Given the description of an element on the screen output the (x, y) to click on. 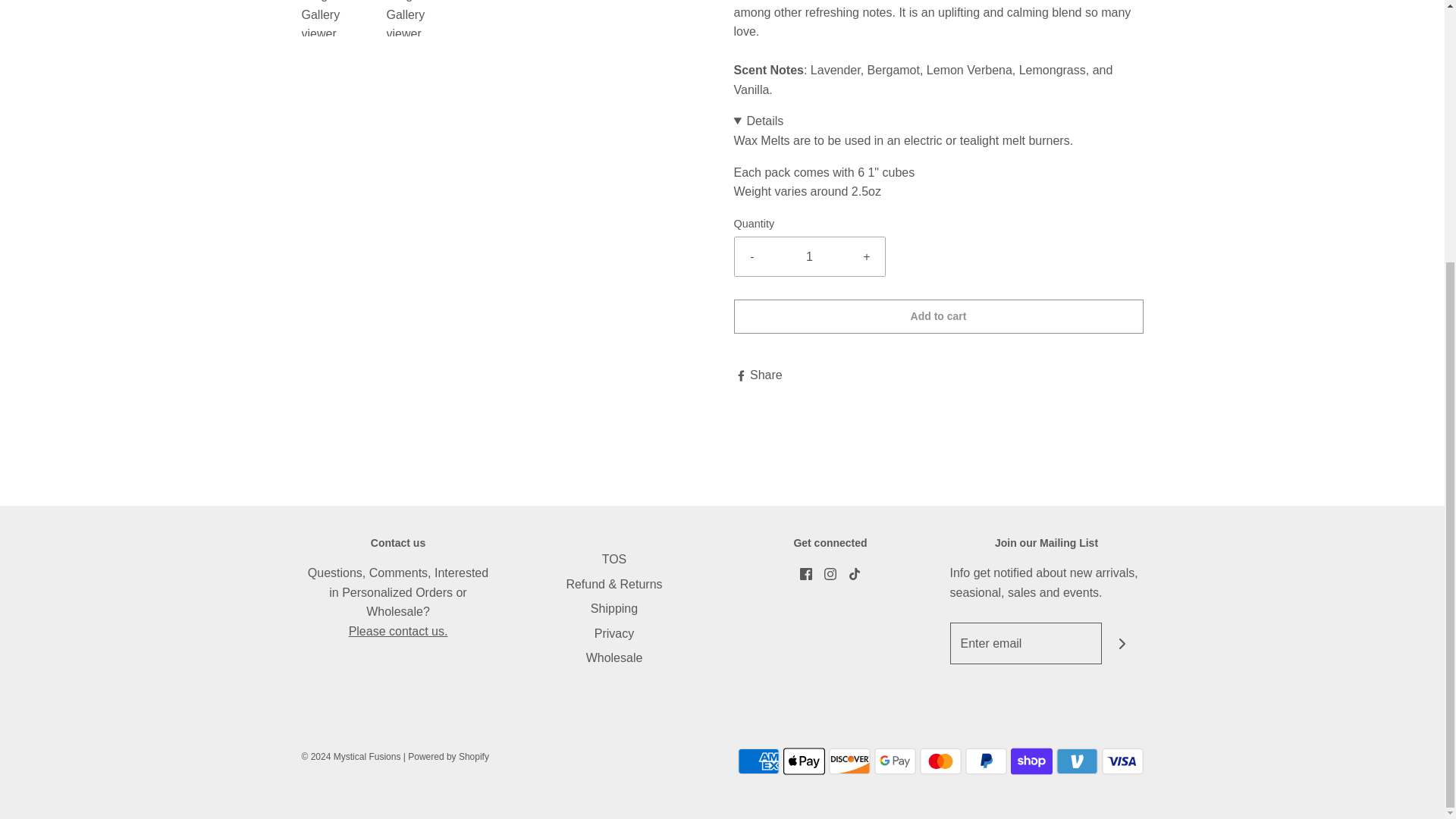
American Express (757, 761)
Apple Pay (803, 761)
1 (809, 256)
Facebook icon (805, 573)
Discover (848, 761)
Mastercard (939, 761)
Contact Us (398, 631)
TikTok icon (854, 573)
Google Pay (894, 761)
Instagram icon (829, 573)
